Given the description of an element on the screen output the (x, y) to click on. 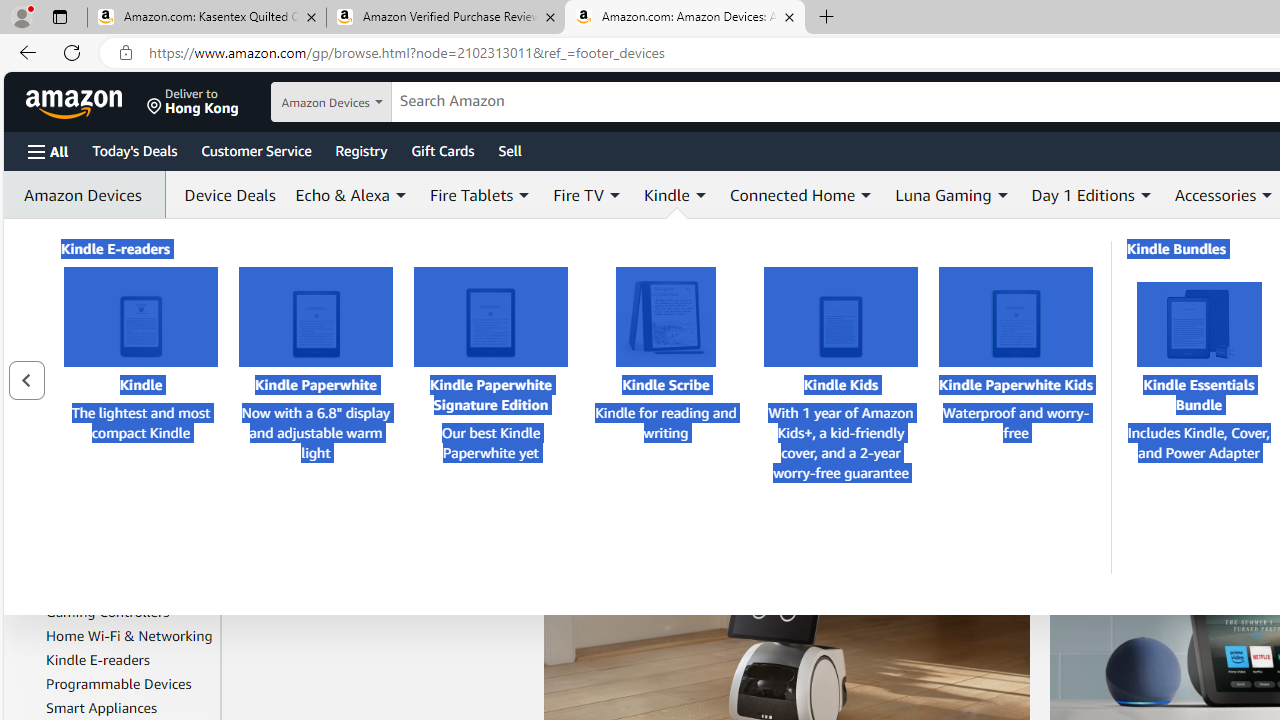
Gift Cards (442, 150)
Sell (509, 150)
Kindle E-readers (97, 659)
Coming Soon (117, 319)
Device Deals (225, 194)
Today's Deals (134, 150)
Device Deals (224, 194)
Echo Smart Speakers & Displays (129, 529)
Skip to main content (86, 100)
Kindle Paperwhite (315, 317)
Expand Fire Tablets (523, 195)
Kindle Scribe Kindle Scribe Kindle for reading and writing (666, 376)
Smart Home Security & Lighting (129, 485)
Gaming Controllers (129, 611)
Day 1 Editions (1092, 194)
